Given the description of an element on the screen output the (x, y) to click on. 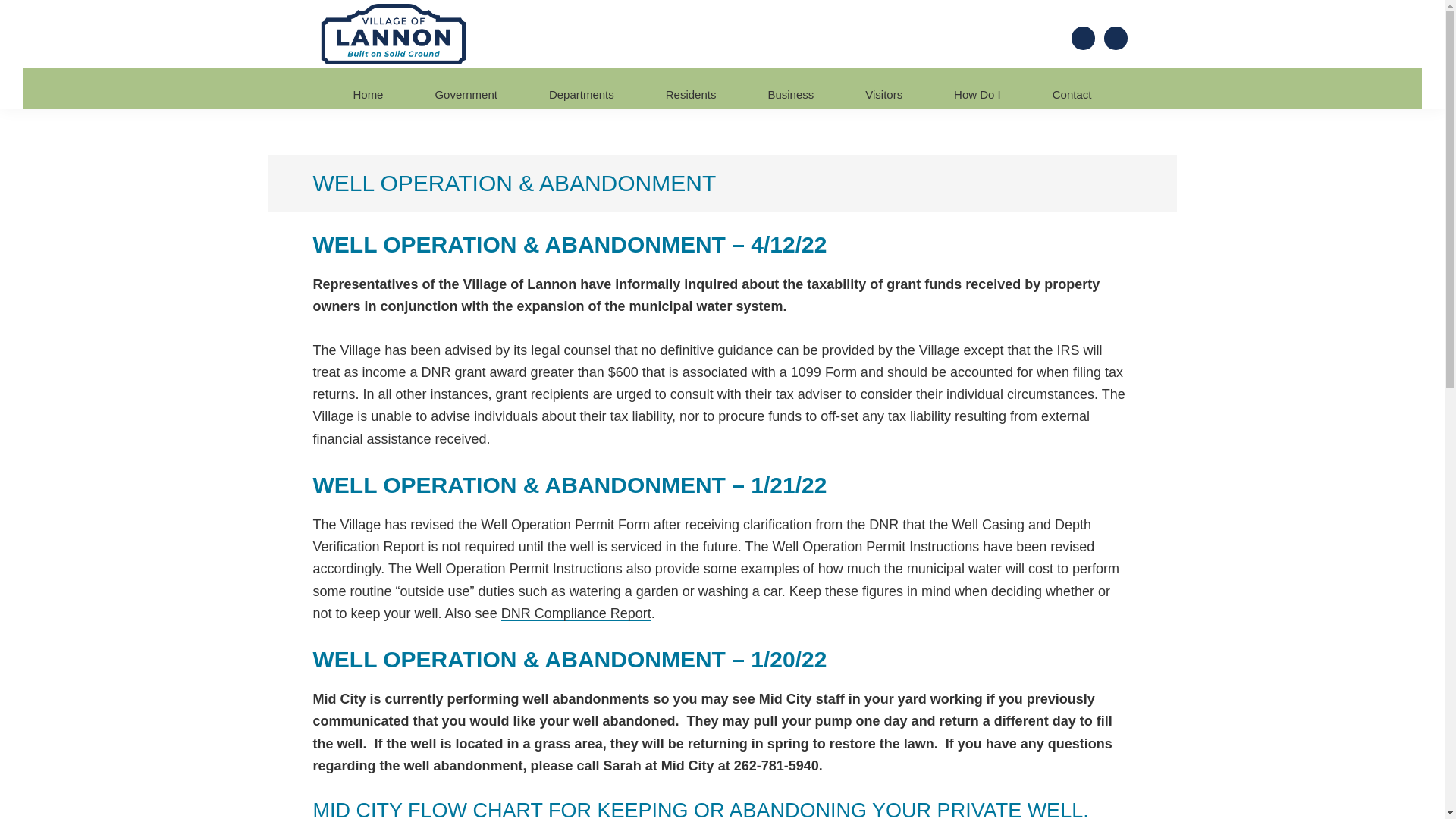
Home (367, 93)
Departments (581, 93)
Business (790, 93)
Government (465, 93)
Residents (690, 93)
